Given the description of an element on the screen output the (x, y) to click on. 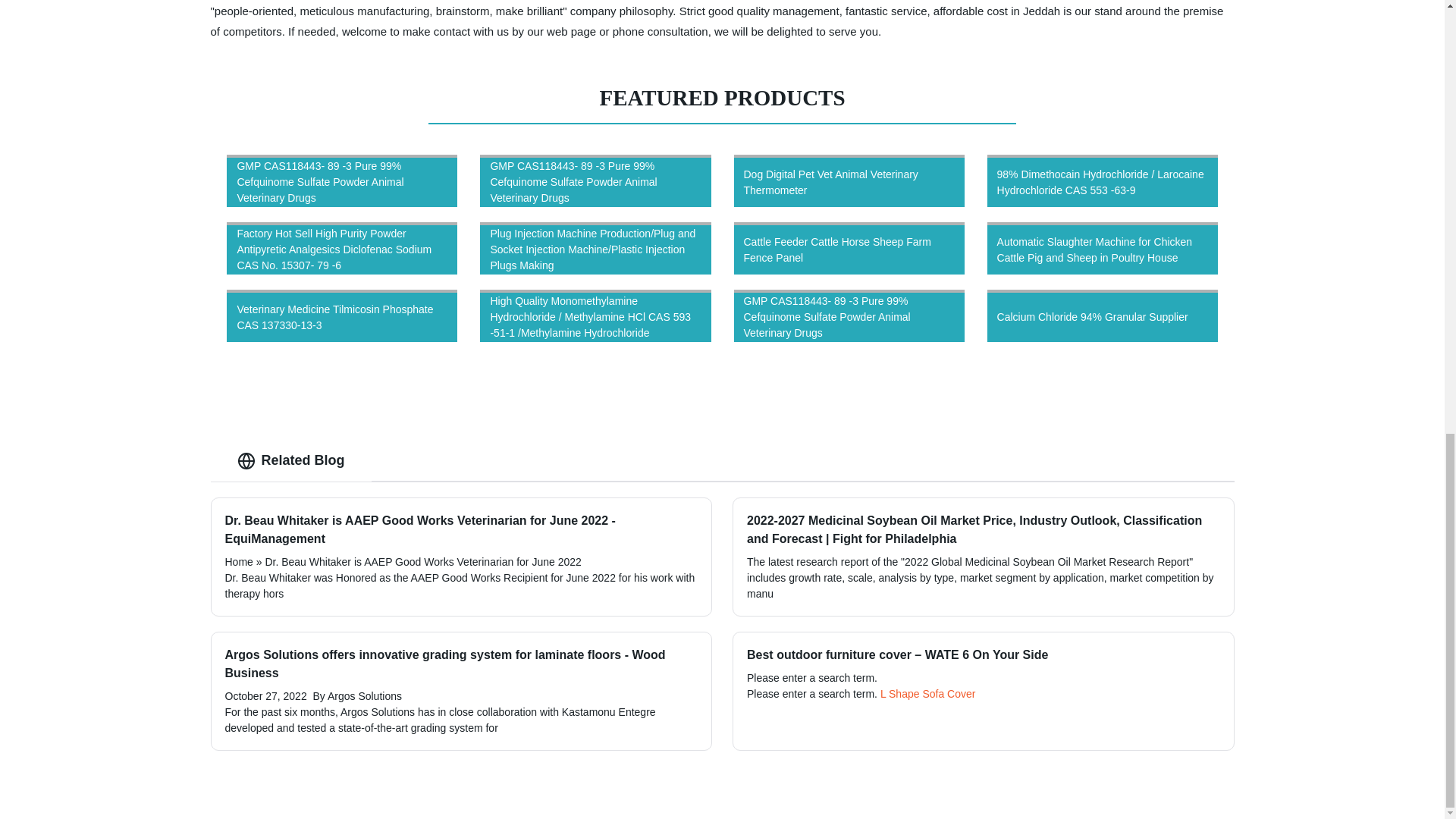
Dog Digital Pet Vet Animal Veterinary Thermometer (848, 180)
